Given the description of an element on the screen output the (x, y) to click on. 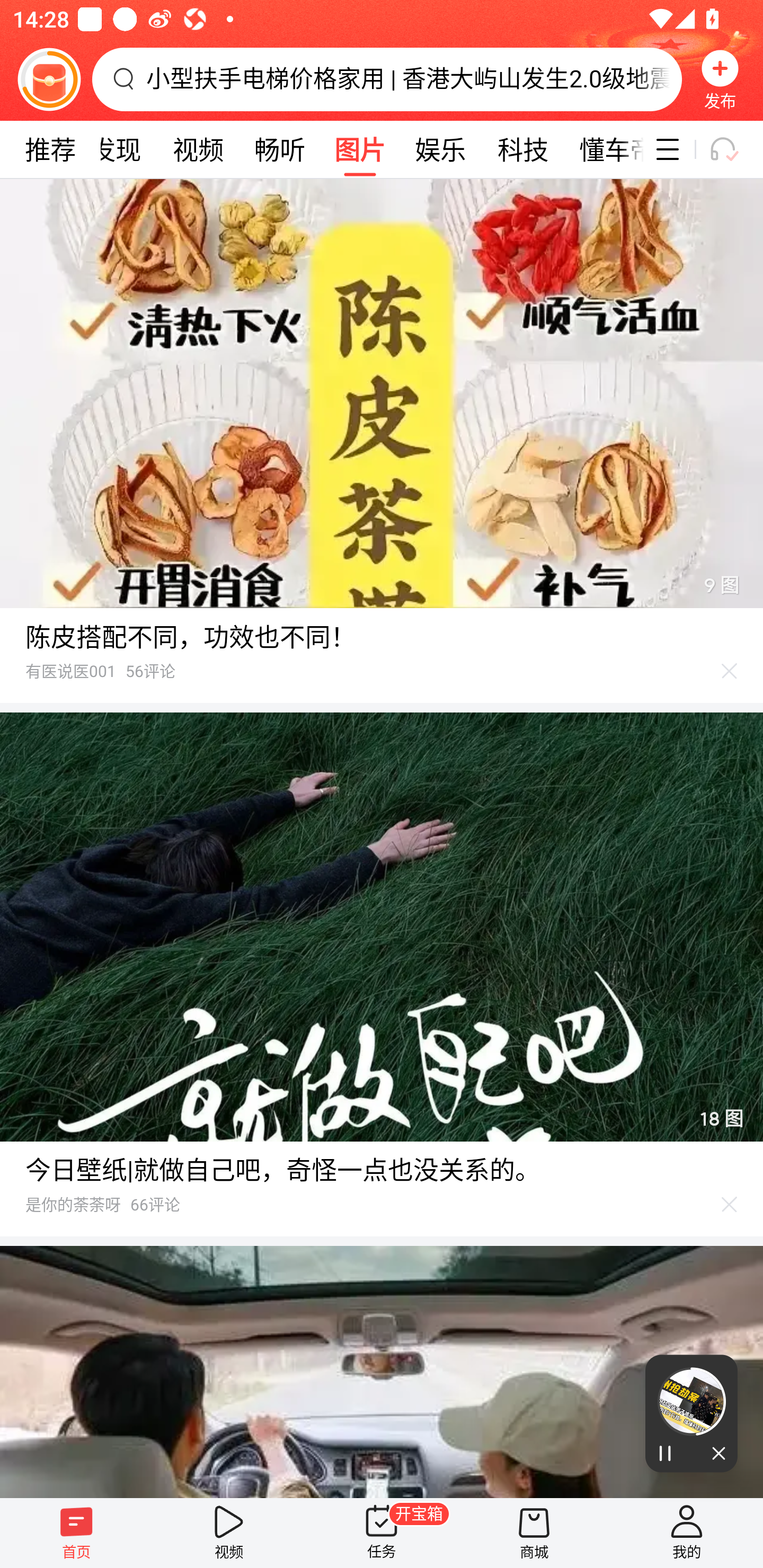
阅读赚金币 (48, 79)
发布 发布，按钮 (720, 78)
推荐 (49, 149)
发现 (115, 149)
视频 (198, 149)
畅听 (279, 149)
图片 (359, 149)
娱乐 (440, 149)
科技 (522, 149)
懂车帝 (603, 149)
听一听开关 (732, 149)
不感兴趣 (729, 670)
不感兴趣 (729, 1204)
如果不富裕，还是老老实实开油车吧作者为  最爱吃橘子  500评论   文章 (381, 1371)
当前进度 47% 暂停 关闭 (691, 1413)
暂停 (668, 1454)
关闭 (714, 1454)
首页 (76, 1532)
视频 (228, 1532)
任务 开宝箱 (381, 1532)
商城 (533, 1532)
我的 (686, 1532)
